Given the description of an element on the screen output the (x, y) to click on. 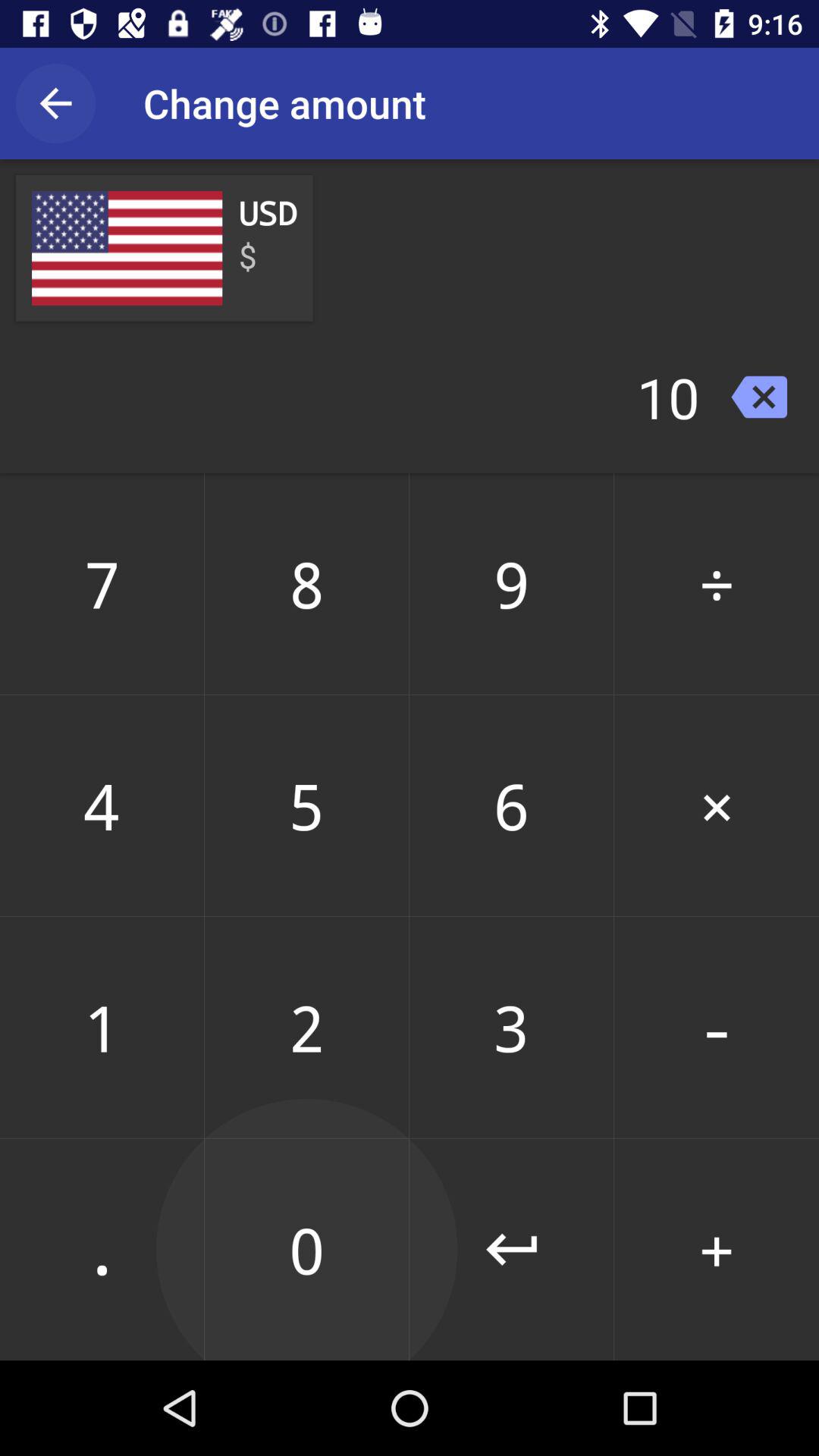
select the 2 icon (306, 1027)
